Given the description of an element on the screen output the (x, y) to click on. 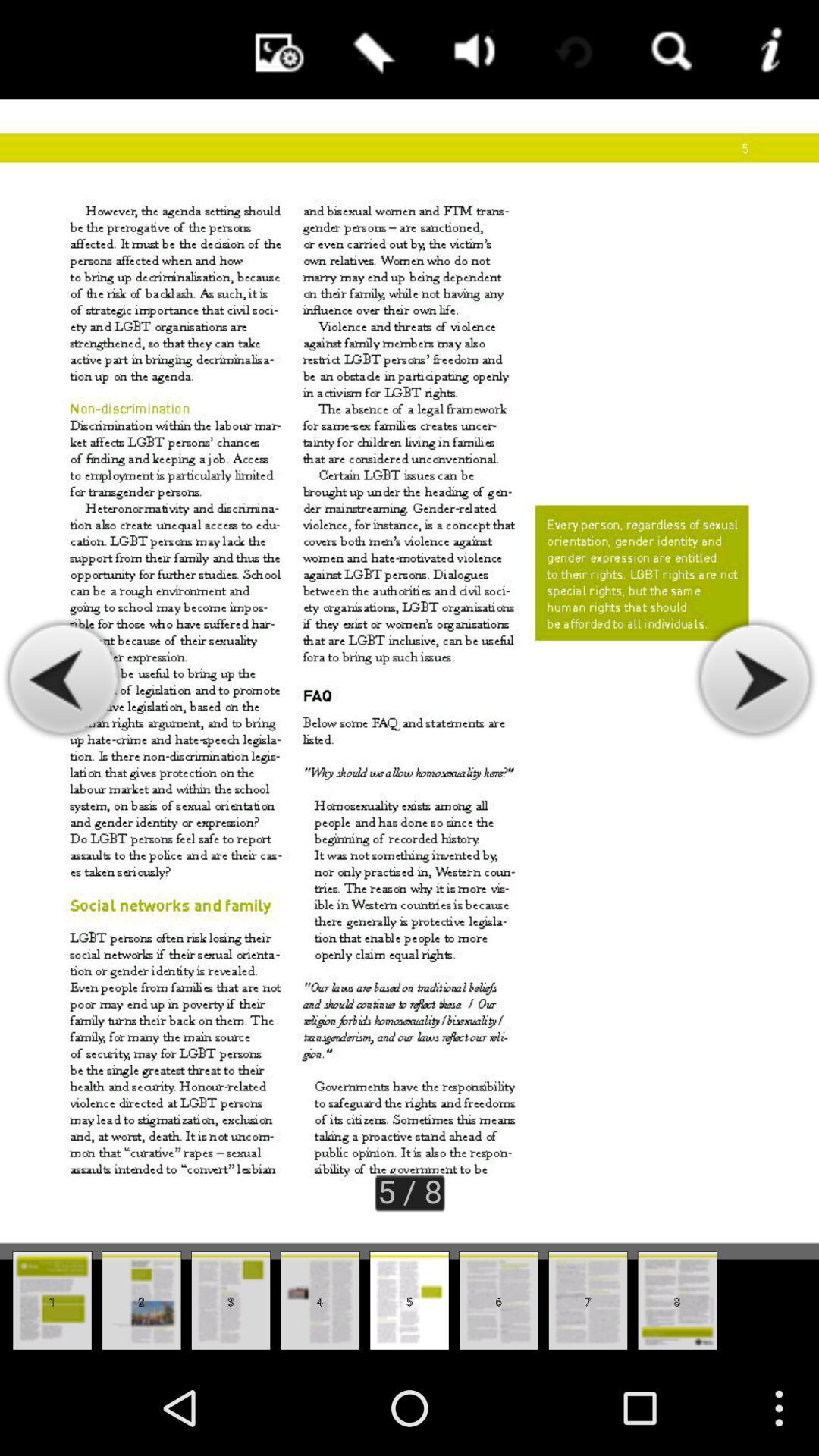
advance page (754, 679)
